Given the description of an element on the screen output the (x, y) to click on. 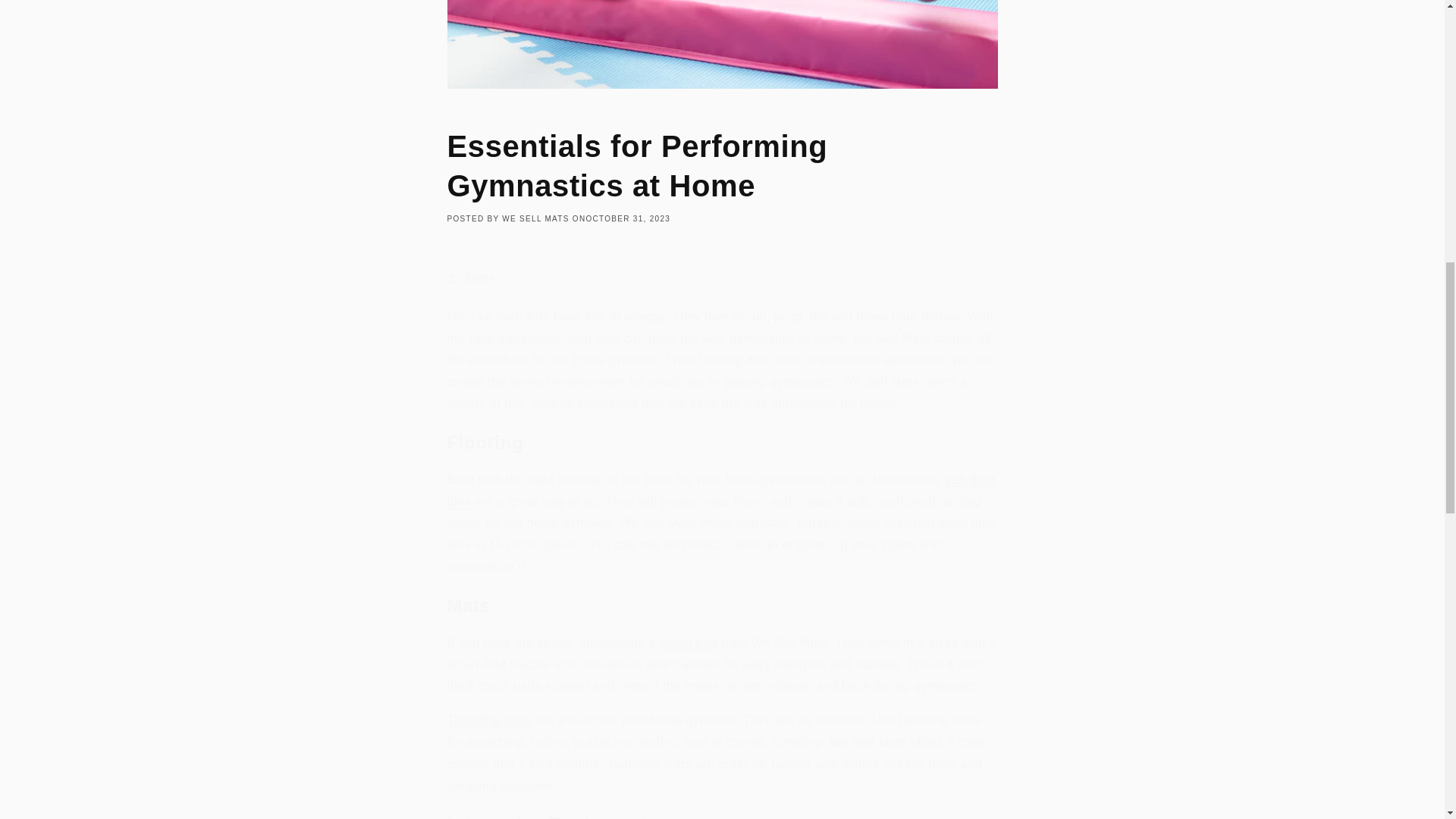
Tumbling Mat (489, 719)
Crash Pad (689, 642)
Share (721, 277)
Multipurpose Mats (720, 490)
